Given the description of an element on the screen output the (x, y) to click on. 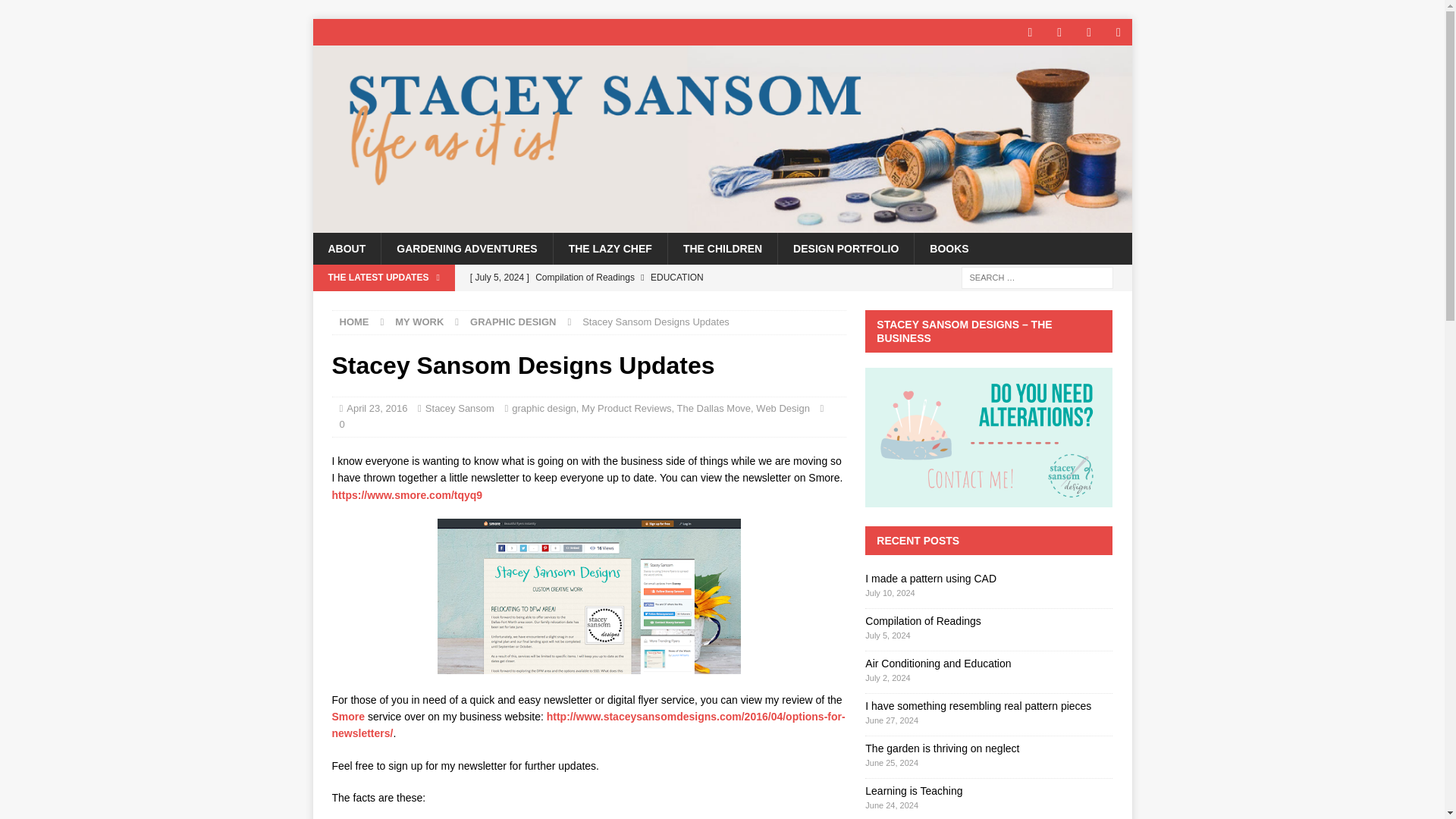
Search (56, 11)
Web Design (782, 408)
DESIGN PORTFOLIO (845, 248)
Smore (348, 716)
THE LAZY CHEF (609, 248)
GARDENING ADVENTURES (465, 248)
graphic design (544, 408)
BOOKS (949, 248)
Compilation of Readings (653, 277)
MY WORK (419, 321)
